Given the description of an element on the screen output the (x, y) to click on. 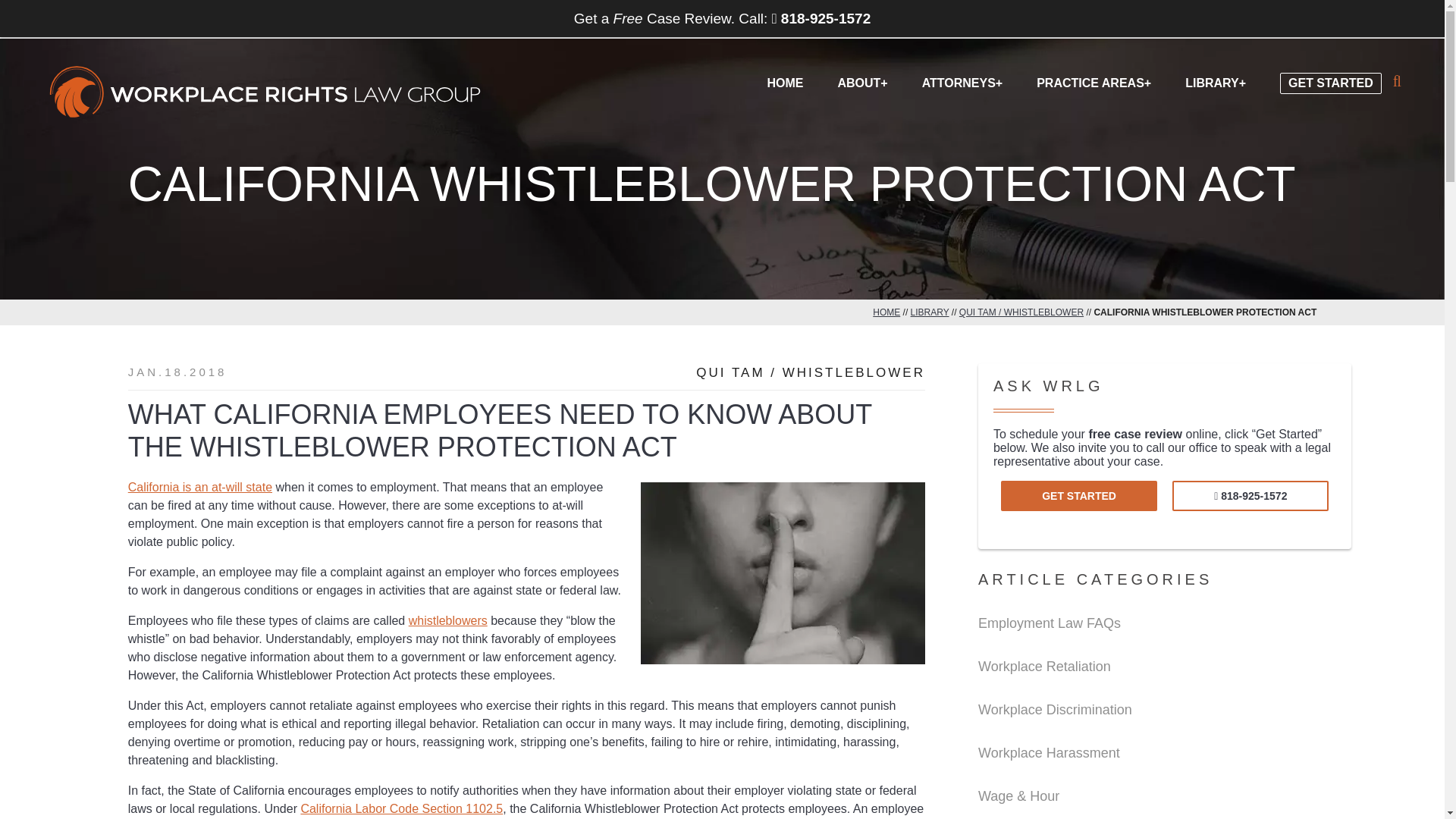
PRACTICE AREAS (1093, 81)
Call Us (1249, 495)
ABOUT (861, 81)
HOME (885, 312)
LIBRARY (1215, 81)
GET STARTED (1330, 71)
LIBRARY (930, 312)
ATTORNEYS (962, 81)
Workplace Rights Law Group Home (265, 93)
